Given the description of an element on the screen output the (x, y) to click on. 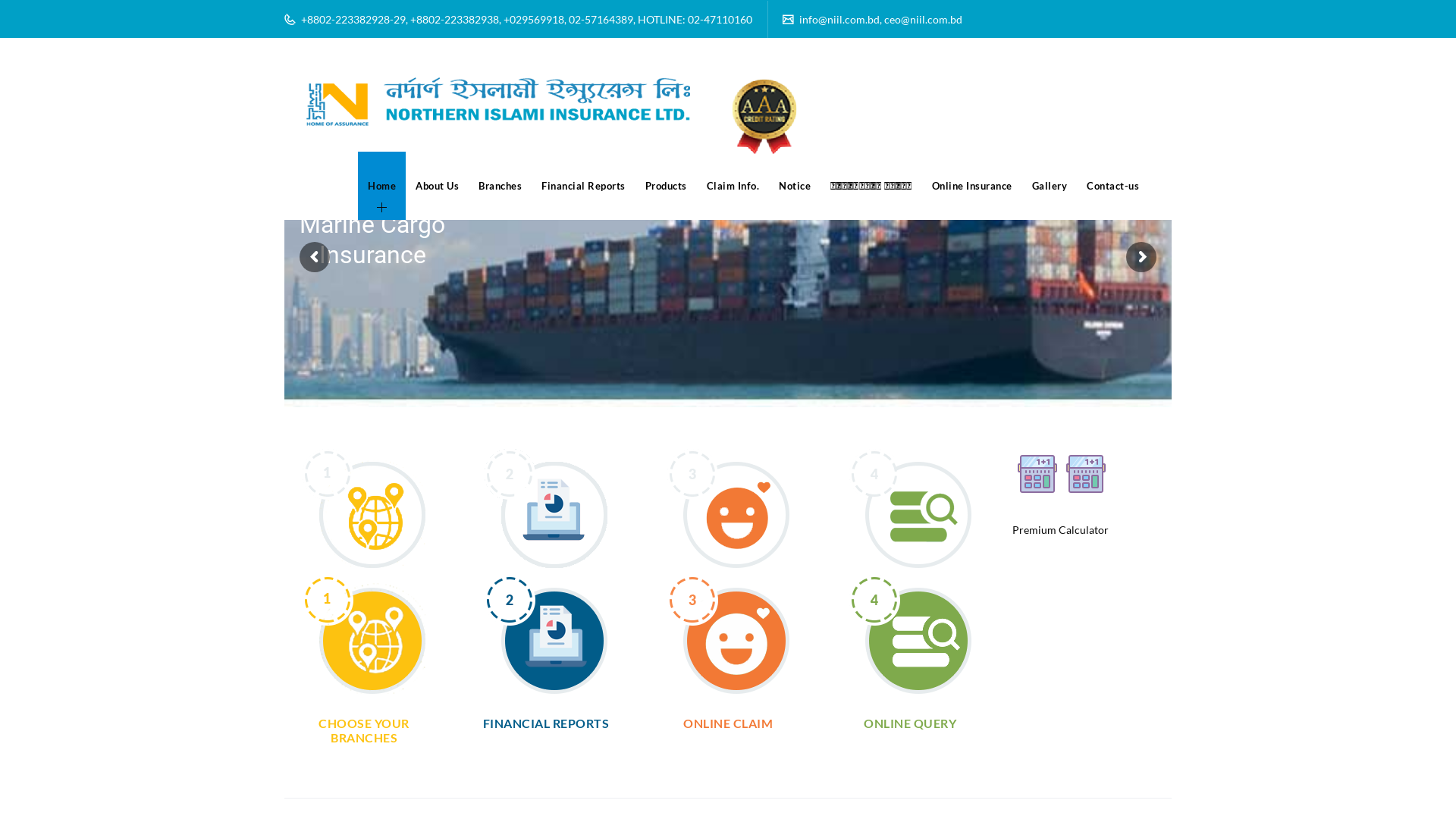
si02-1 Element type: hover (545, 507)
info@niil.com.bd, ceo@niil.com.bd Element type: text (879, 18)
si04-2 Element type: hover (910, 633)
Products Element type: text (665, 185)
si04-1 Element type: hover (910, 507)
Notice Element type: text (794, 185)
icons8-calculator-64 Element type: hover (1036, 472)
Northern Islami Insurance Ltd. Element type: hover (544, 117)
si02-2 Element type: hover (545, 633)
Home Element type: text (381, 185)
About Us Element type: text (436, 185)
Financial Reports Element type: text (583, 185)
Online Insurance Element type: text (972, 185)
Contact-us Element type: text (1112, 185)
Northern Islami Insurance Ltd. Element type: hover (544, 117)
Claim Info. Element type: text (732, 185)
si01 Element type: hover (363, 507)
Gallery Element type: text (1049, 185)
icons8-calculator-64 Element type: hover (1084, 472)
si03-2 Element type: hover (728, 633)
si01-1 Element type: hover (363, 633)
si03-1 Element type: hover (728, 507)
Branches Element type: text (499, 185)
